Given the description of an element on the screen output the (x, y) to click on. 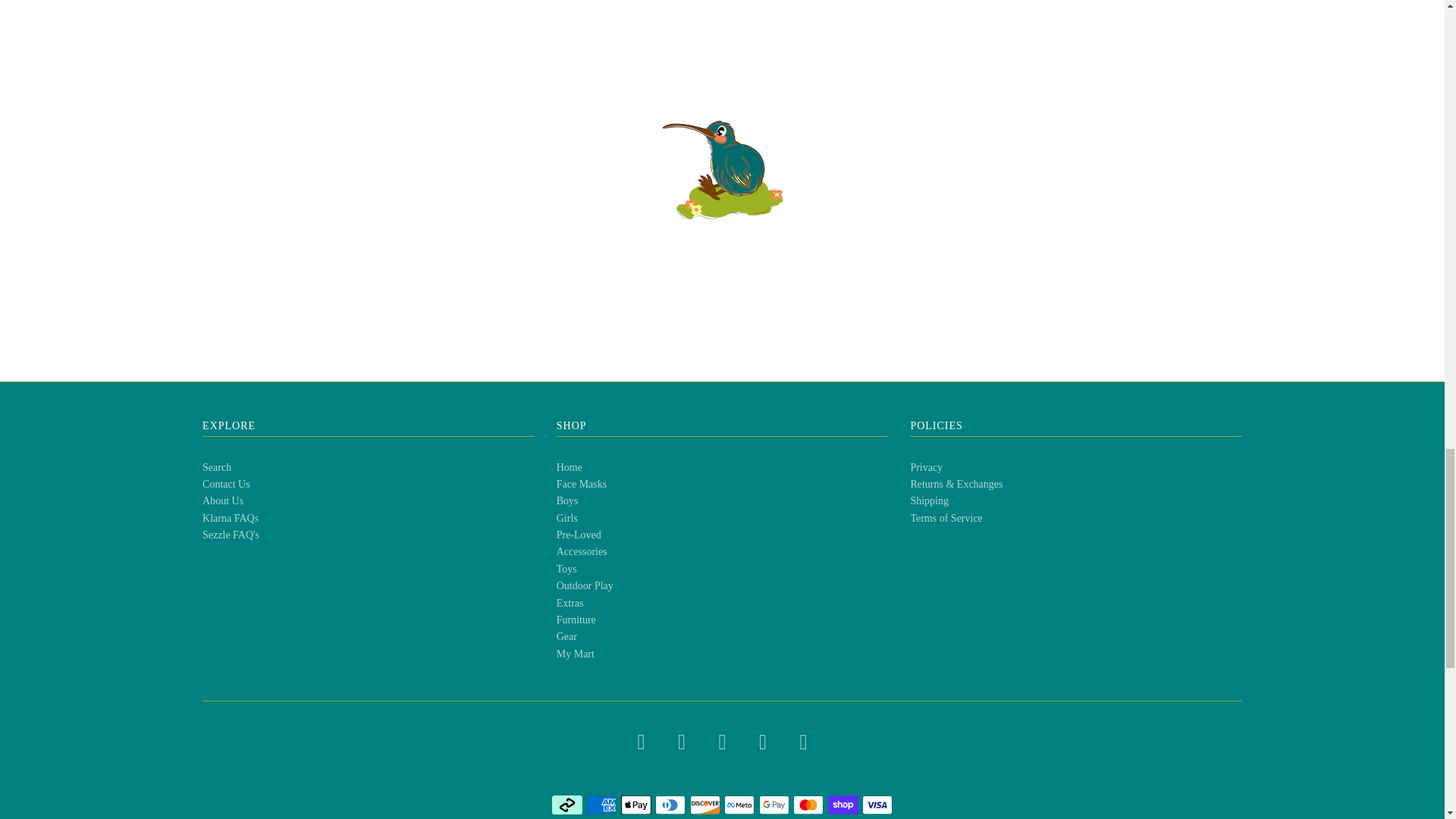
Afterpay (566, 804)
Google Pay (773, 804)
Visa (876, 804)
Mastercard (808, 804)
Shop Pay (843, 804)
American Express (600, 804)
Apple Pay (635, 804)
Discover (705, 804)
Meta Pay (738, 804)
Diners Club (670, 804)
